Given the description of an element on the screen output the (x, y) to click on. 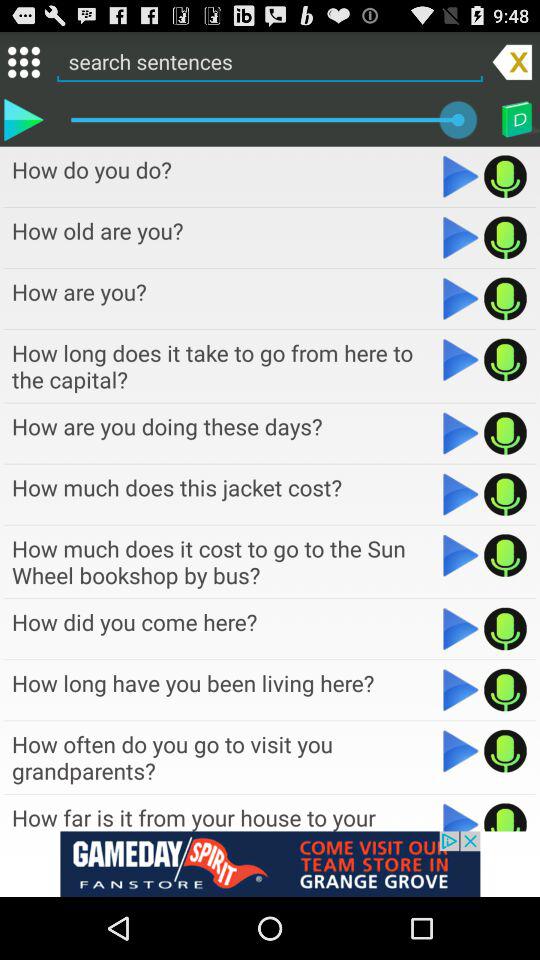
remove sentence (512, 61)
